Given the description of an element on the screen output the (x, y) to click on. 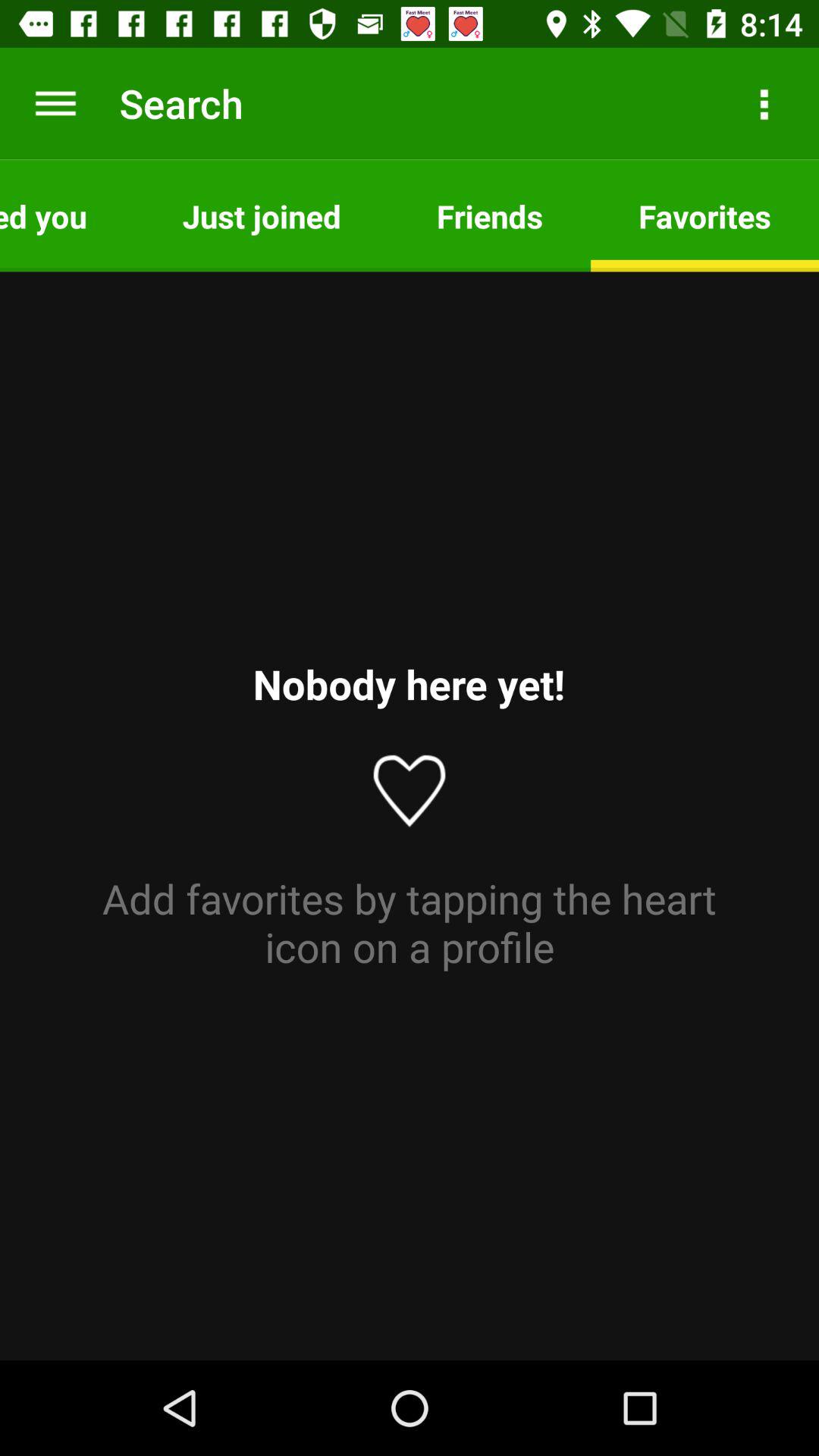
click icon next to friends item (763, 103)
